Given the description of an element on the screen output the (x, y) to click on. 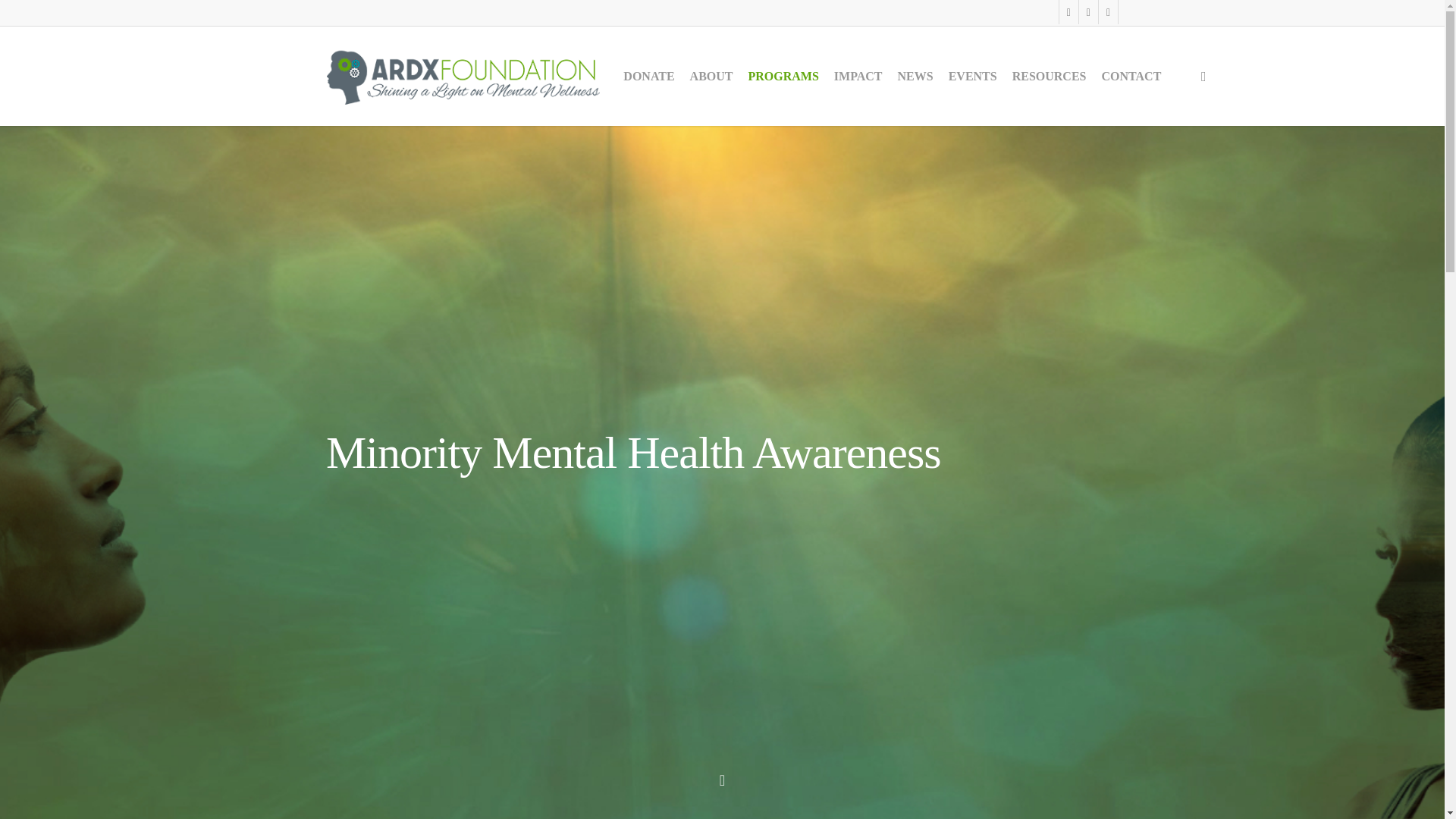
PROGRAMS (782, 75)
search (1202, 75)
CONTACT (1131, 75)
ABOUT (711, 75)
EVENTS (972, 75)
DONATE (648, 75)
RESOURCES (1049, 75)
NEWS (914, 75)
IMPACT (858, 75)
